Given the description of an element on the screen output the (x, y) to click on. 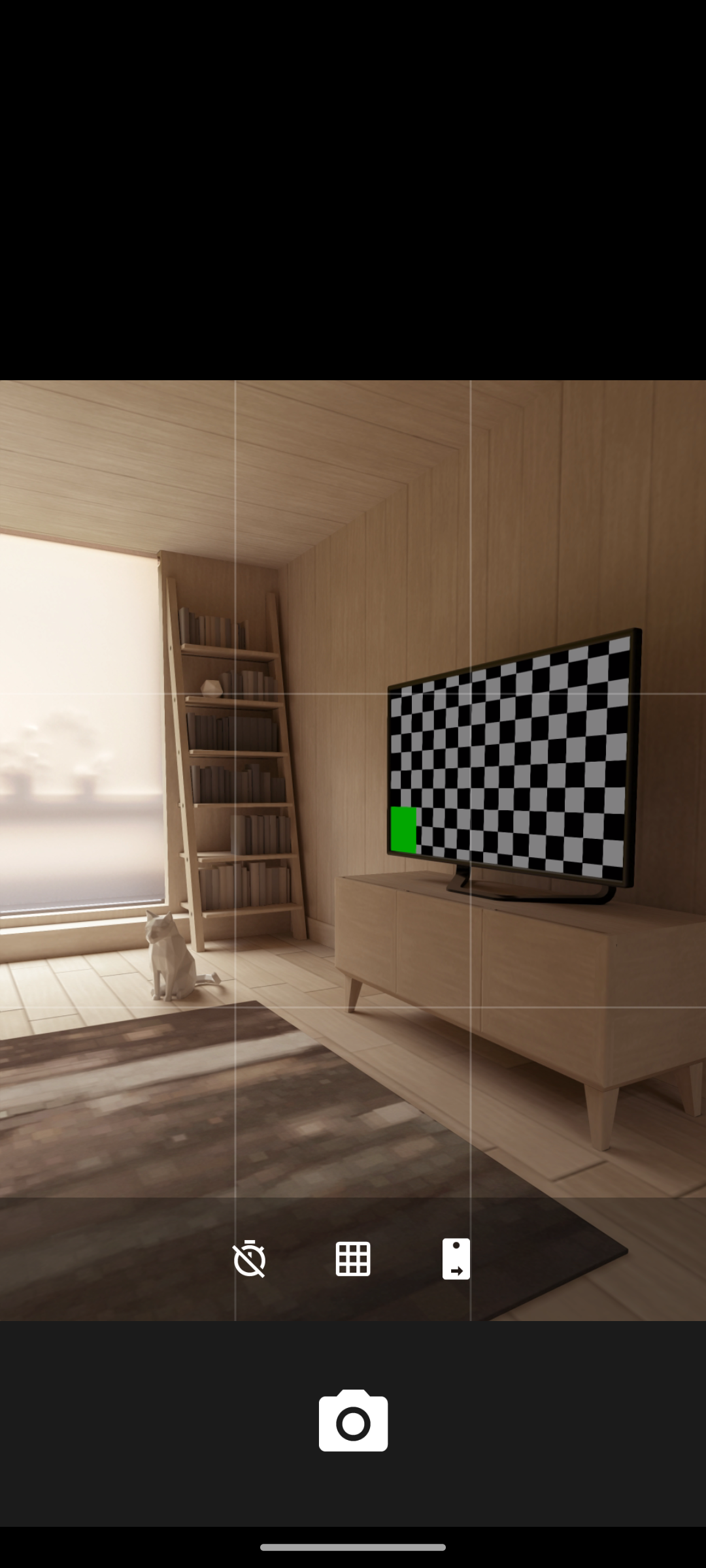
Countdown timer is off (249, 1258)
Grid lines on (352, 1258)
Back camera (456, 1258)
Shutter (353, 1423)
